Given the description of an element on the screen output the (x, y) to click on. 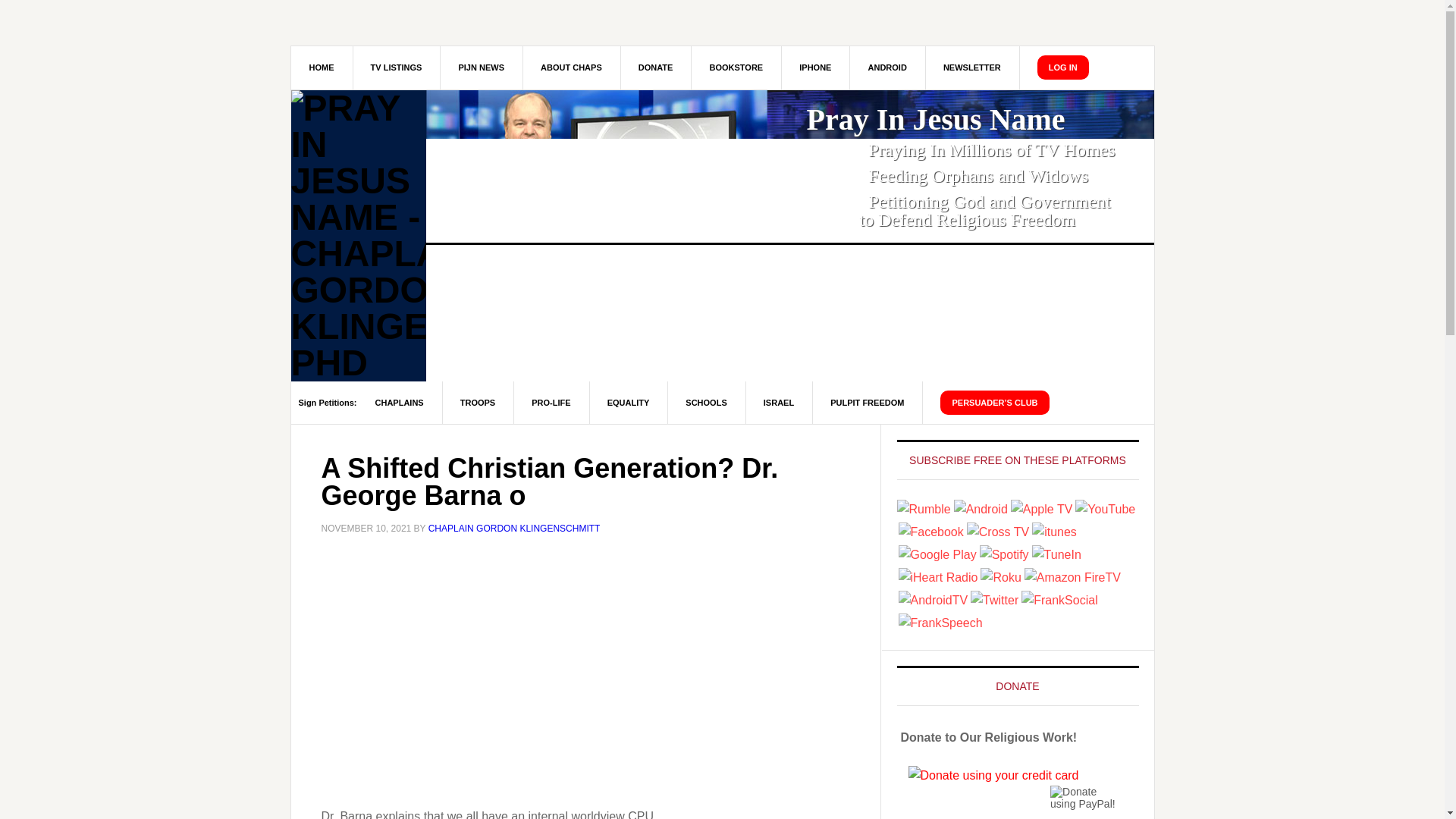
NEWSLETTER (972, 67)
TV LISTINGS (396, 67)
DONATE (656, 67)
ABOUT CHAPS (571, 67)
YouTube video player (512, 670)
PULPIT FREEDOM (867, 402)
ISRAEL (778, 402)
PIJN NEWS (480, 67)
CHAPLAINS (399, 402)
